Given the description of an element on the screen output the (x, y) to click on. 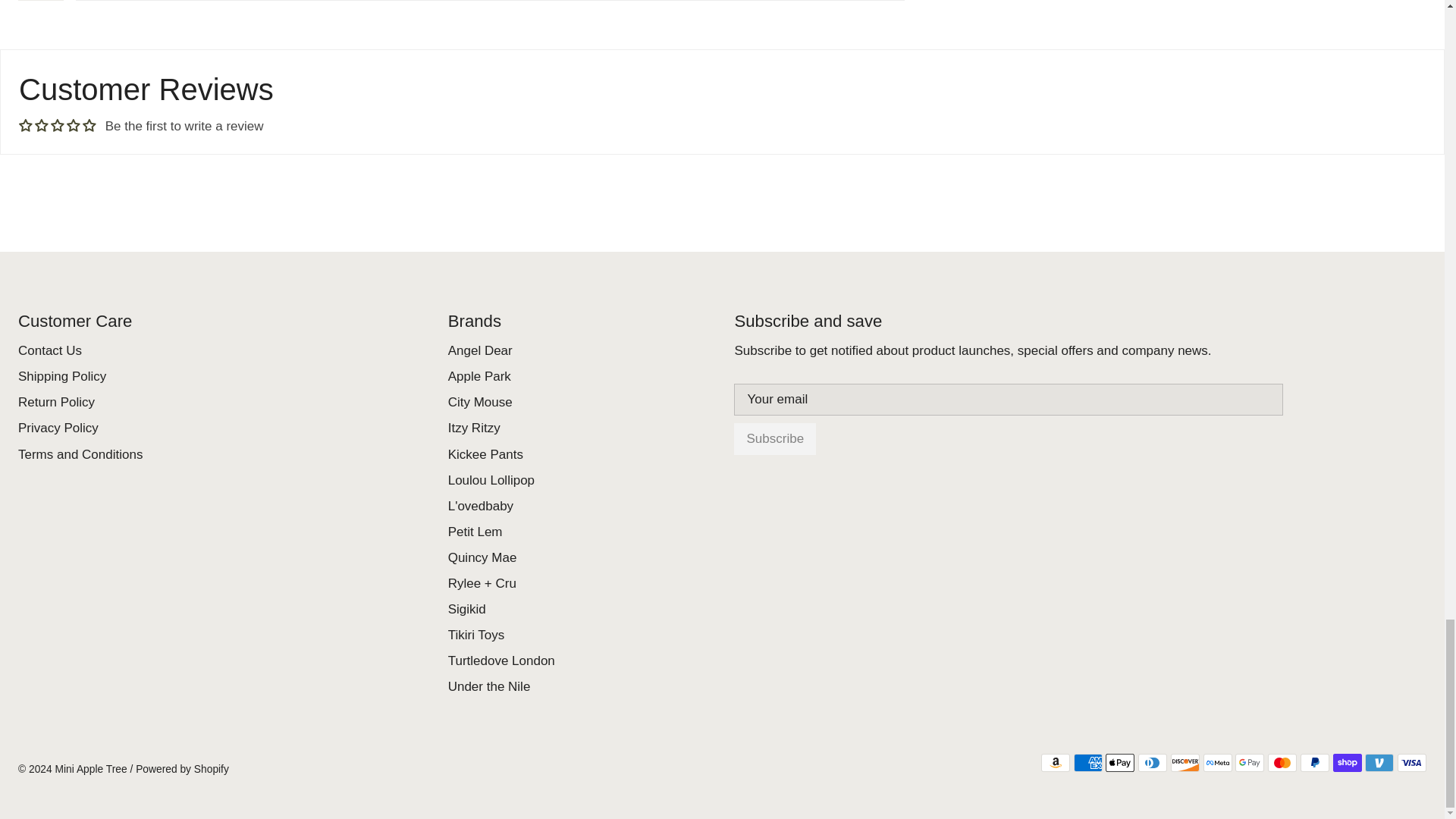
Apple Pay (1119, 762)
Mastercard (1282, 762)
Amazon (1055, 762)
Google Pay (1248, 762)
Diners Club (1152, 762)
American Express (1088, 762)
PayPal (1314, 762)
Visa (1411, 762)
Venmo (1379, 762)
Discover (1184, 762)
Meta Pay (1217, 762)
Shop Pay (1347, 762)
